Given the description of an element on the screen output the (x, y) to click on. 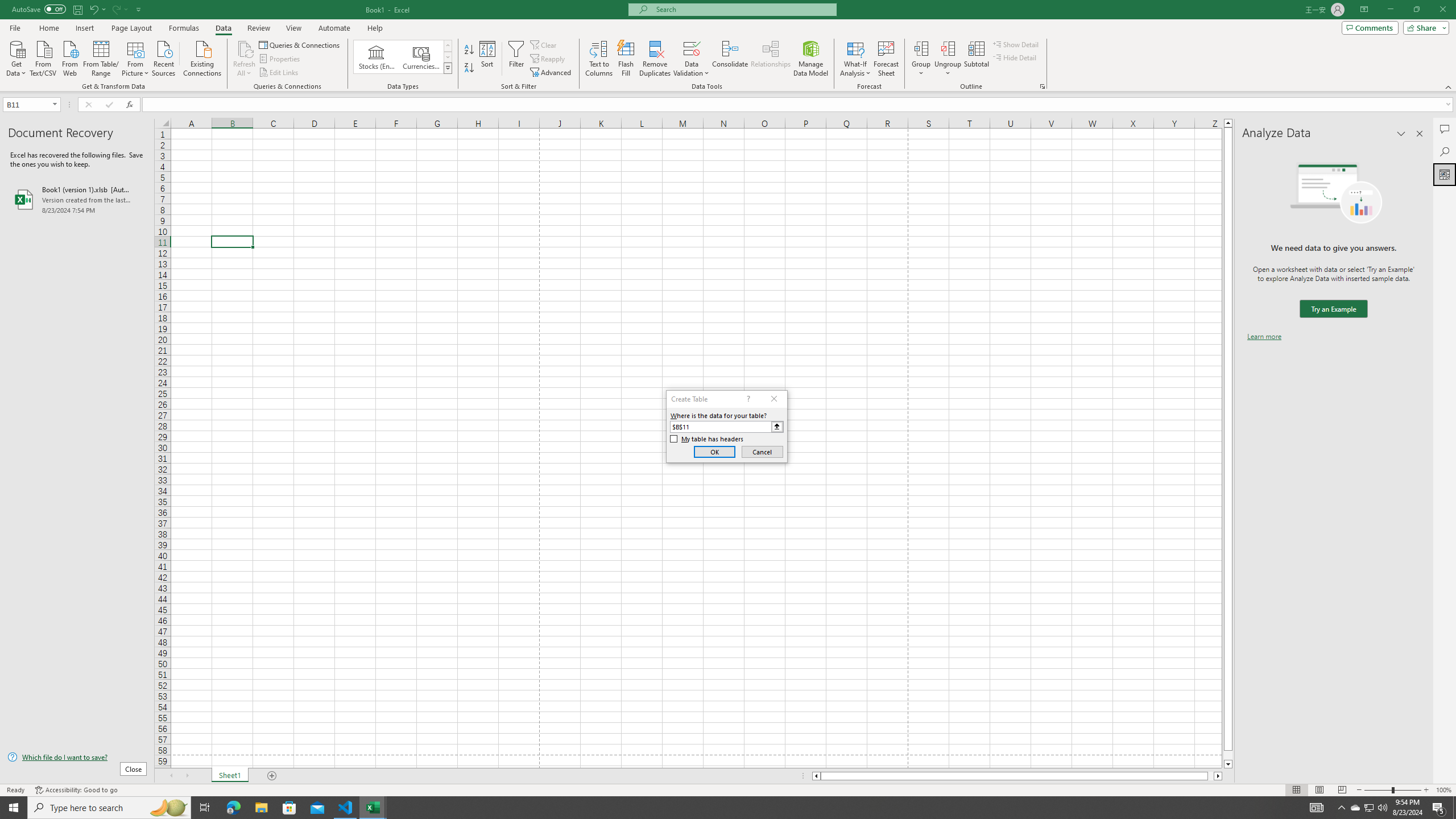
Clear (544, 44)
What-If Analysis (855, 58)
Show Detail (1016, 44)
Remove Duplicates (654, 58)
Edit Links (279, 72)
